Given the description of an element on the screen output the (x, y) to click on. 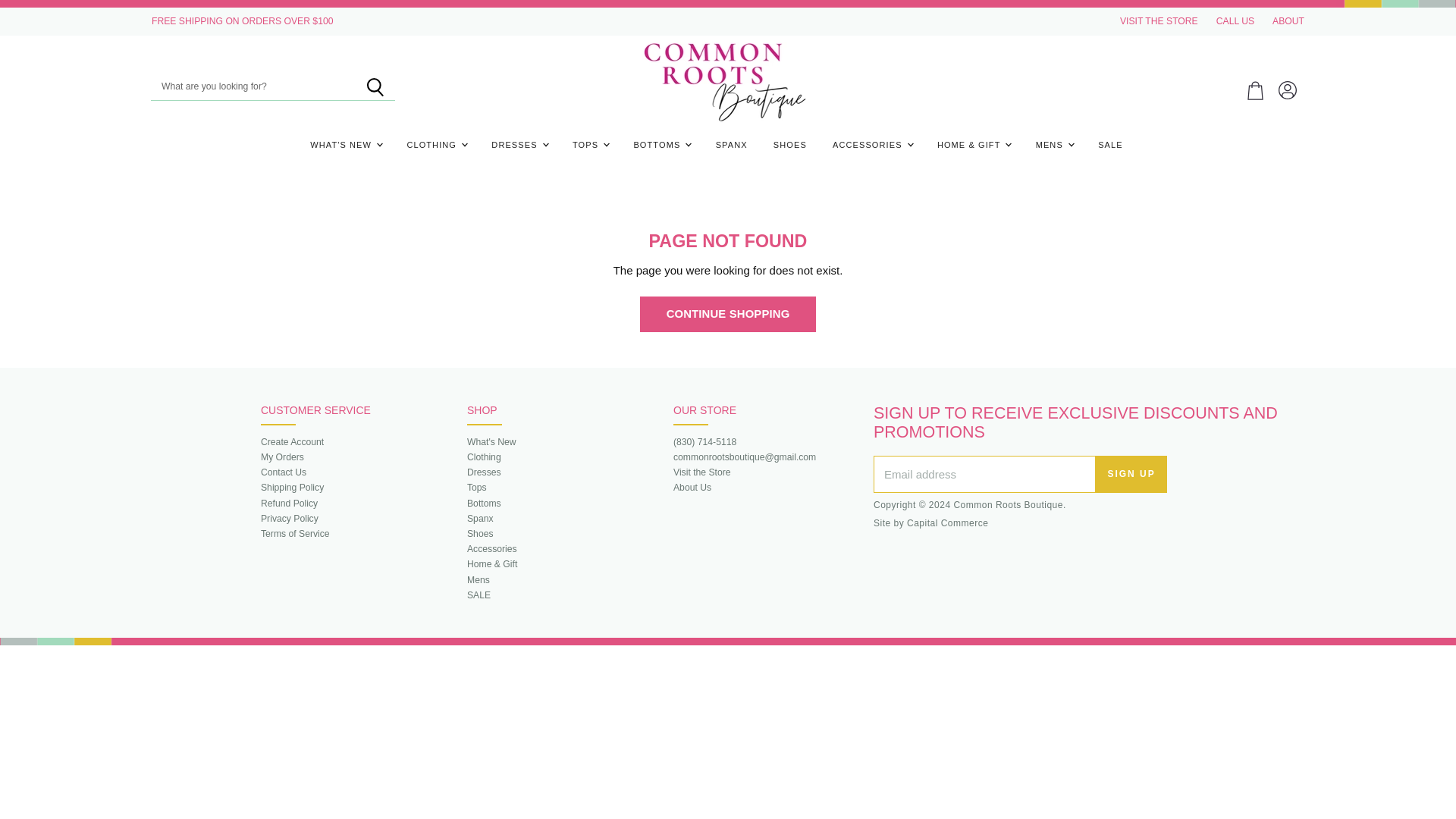
TOPS (589, 144)
VISIT THE STORE (1158, 20)
ABOUT (1288, 20)
WHAT'S NEW (344, 144)
CALL US (1234, 20)
View cart (1255, 90)
View account (1287, 90)
DRESSES (518, 144)
CLOTHING (435, 144)
